Given the description of an element on the screen output the (x, y) to click on. 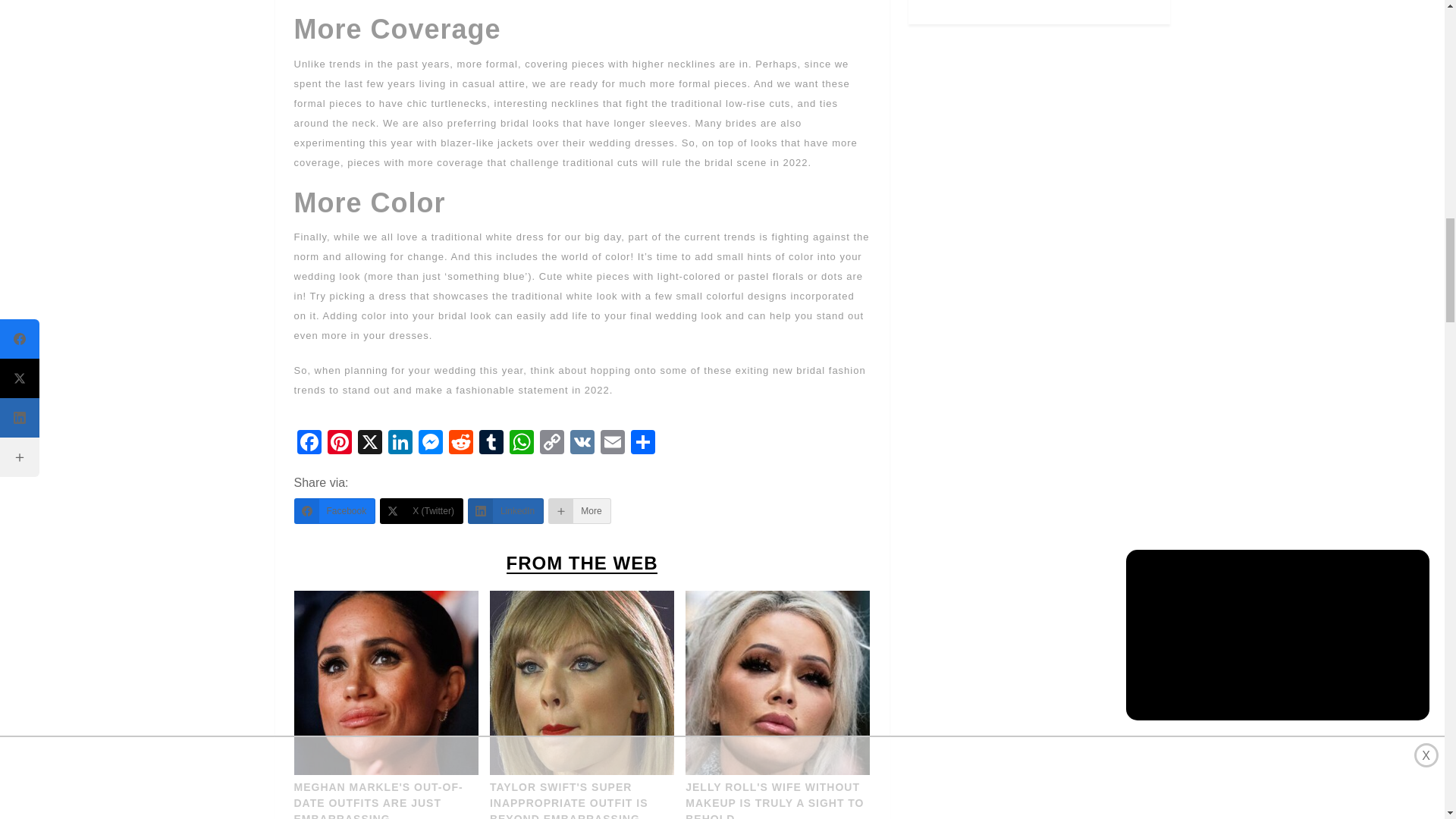
WhatsApp (521, 443)
Reddit (460, 443)
Pinterest (339, 443)
VK (581, 443)
Email (611, 443)
Tumblr (491, 443)
LinkedIn (399, 443)
Copy Link (552, 443)
X (370, 443)
Messenger (429, 443)
Facebook (309, 443)
